Given the description of an element on the screen output the (x, y) to click on. 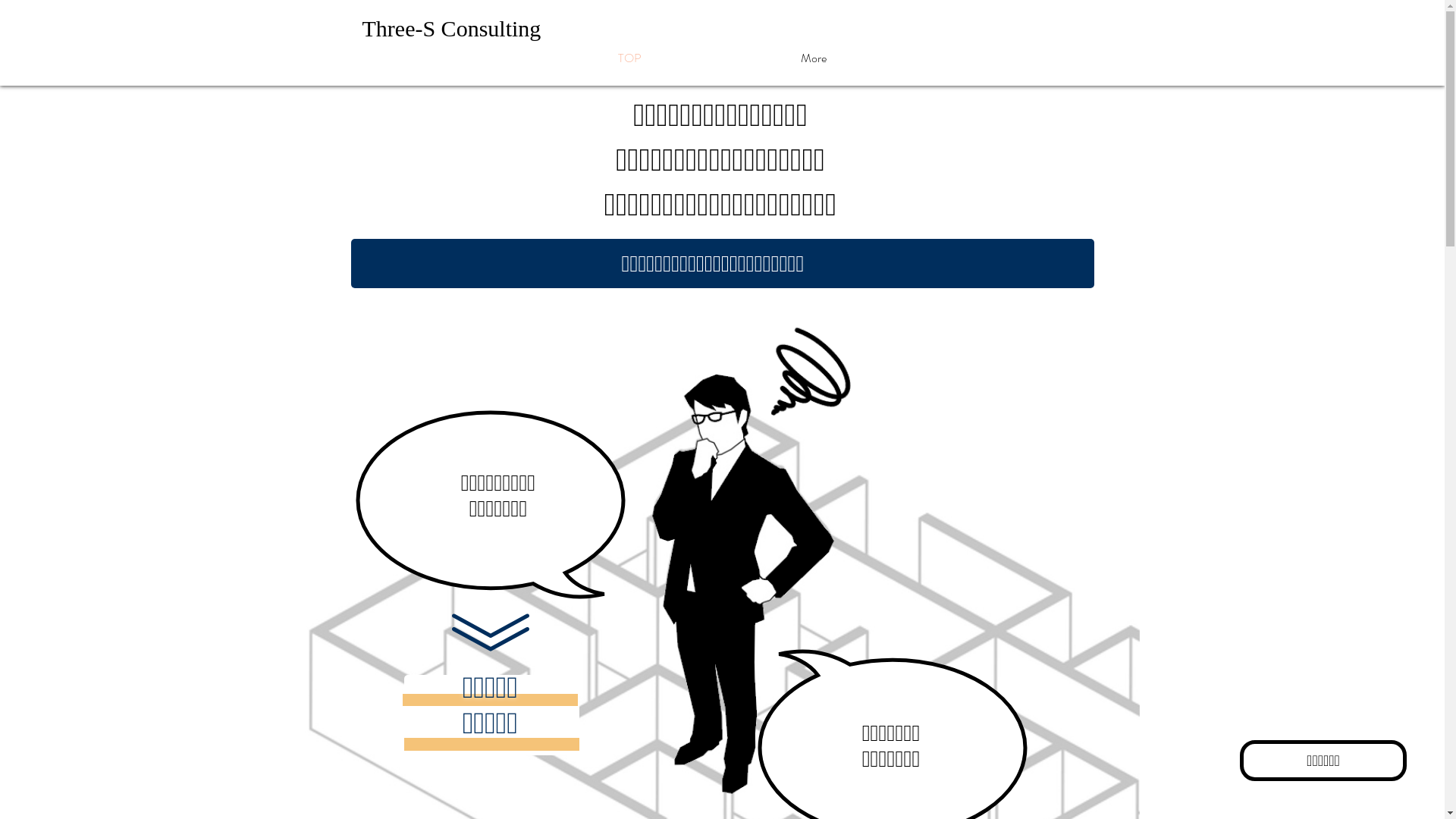
Three-S Consulting Element type: text (451, 27)
TOP Element type: text (629, 62)
